Given the description of an element on the screen output the (x, y) to click on. 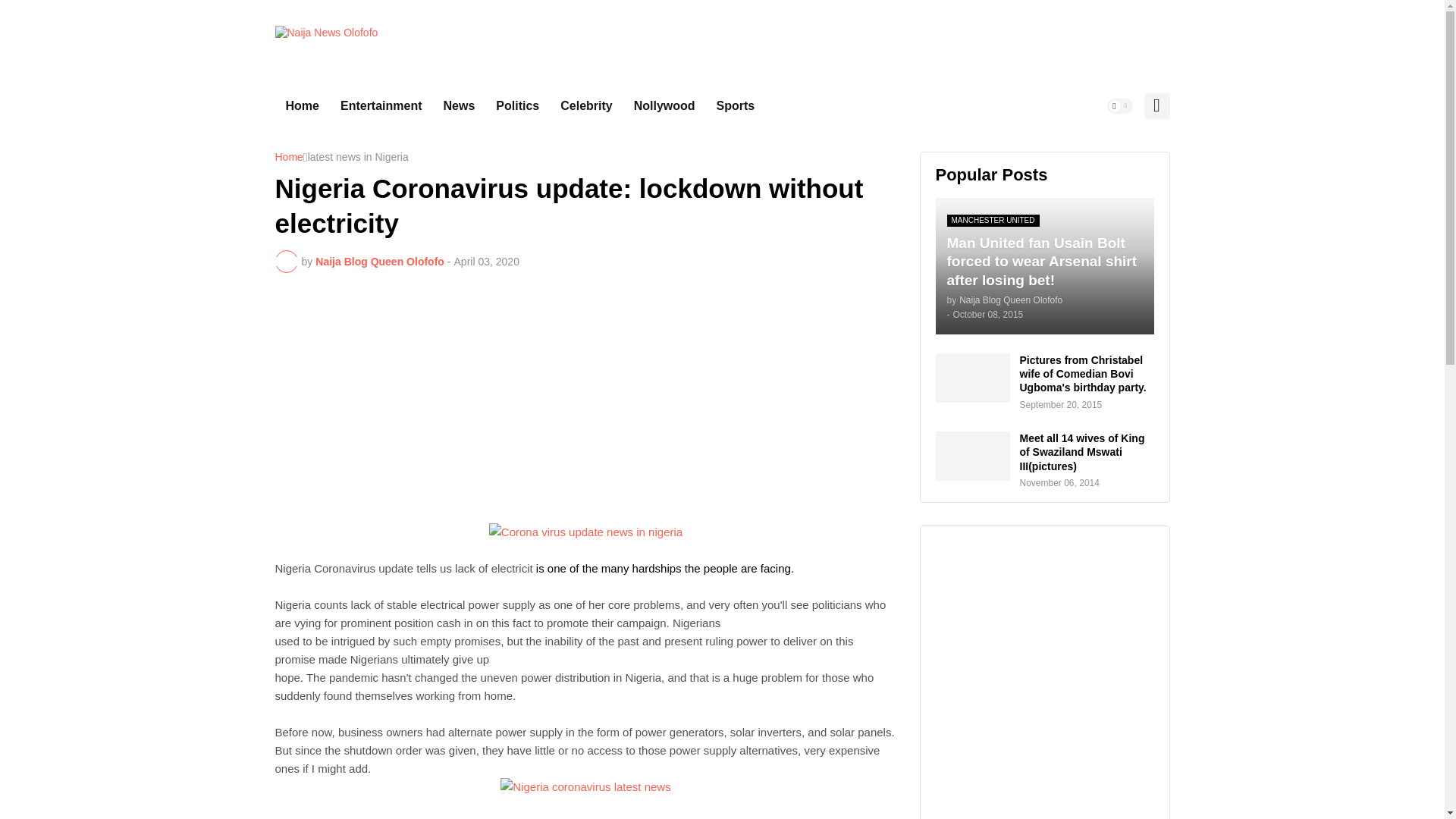
Sports (735, 105)
Home (302, 105)
latest news in Nigeria (358, 157)
Advertisement (585, 397)
Naija News Olofofo (326, 41)
News (459, 105)
Search (1155, 105)
Politics (517, 105)
Nollywood (664, 105)
Celebrity (586, 105)
Entertainment (381, 105)
Home (288, 157)
